Given the description of an element on the screen output the (x, y) to click on. 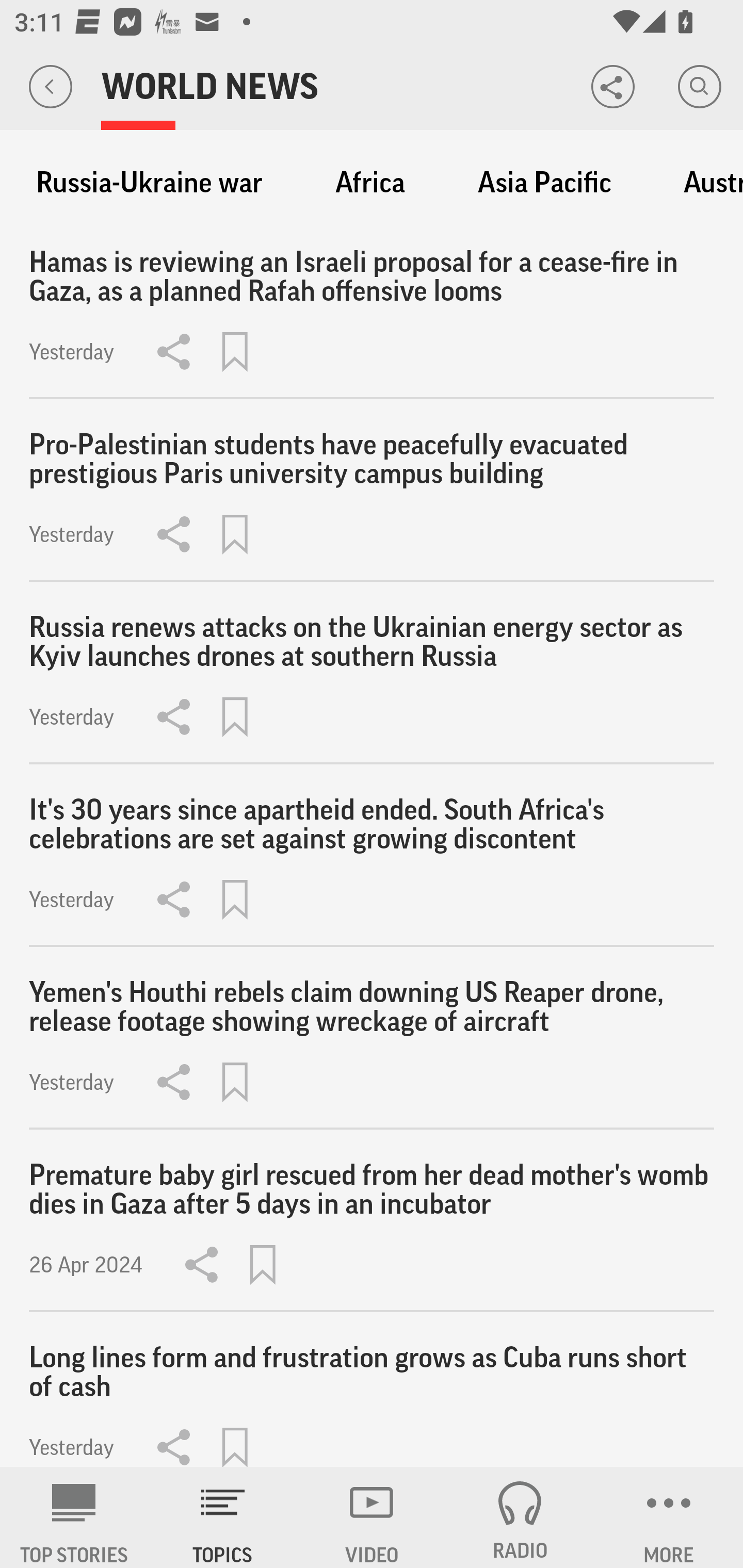
Russia-Ukraine war (148, 182)
Africa (370, 182)
Asia Pacific (544, 182)
AP News TOP STORIES (74, 1517)
TOPICS (222, 1517)
VIDEO (371, 1517)
RADIO (519, 1517)
MORE (668, 1517)
